Given the description of an element on the screen output the (x, y) to click on. 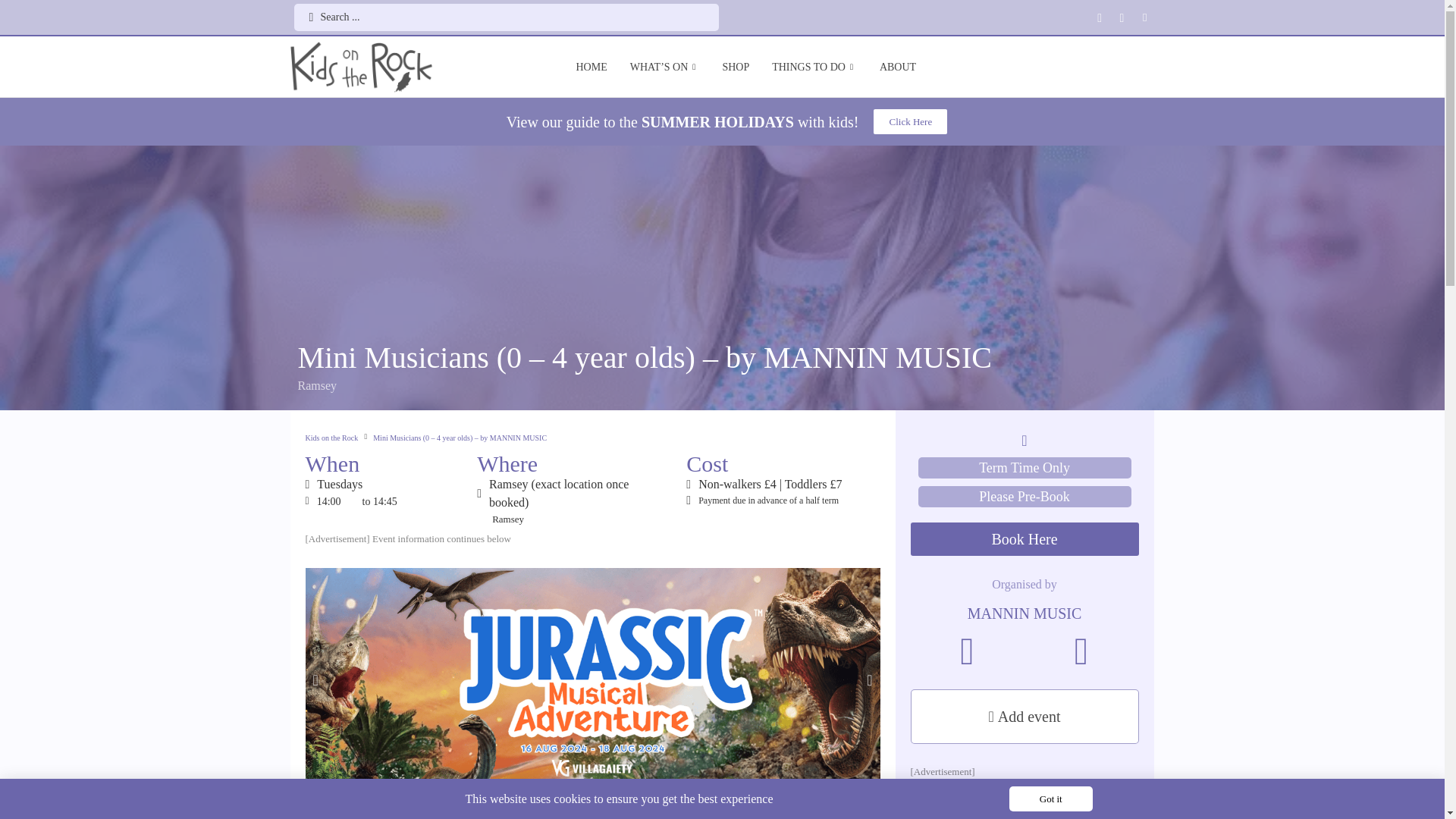
Kids on the Rock (331, 437)
ABOUT (897, 66)
Kids on the Rock (360, 66)
THINGS TO DO (813, 66)
